Given the description of an element on the screen output the (x, y) to click on. 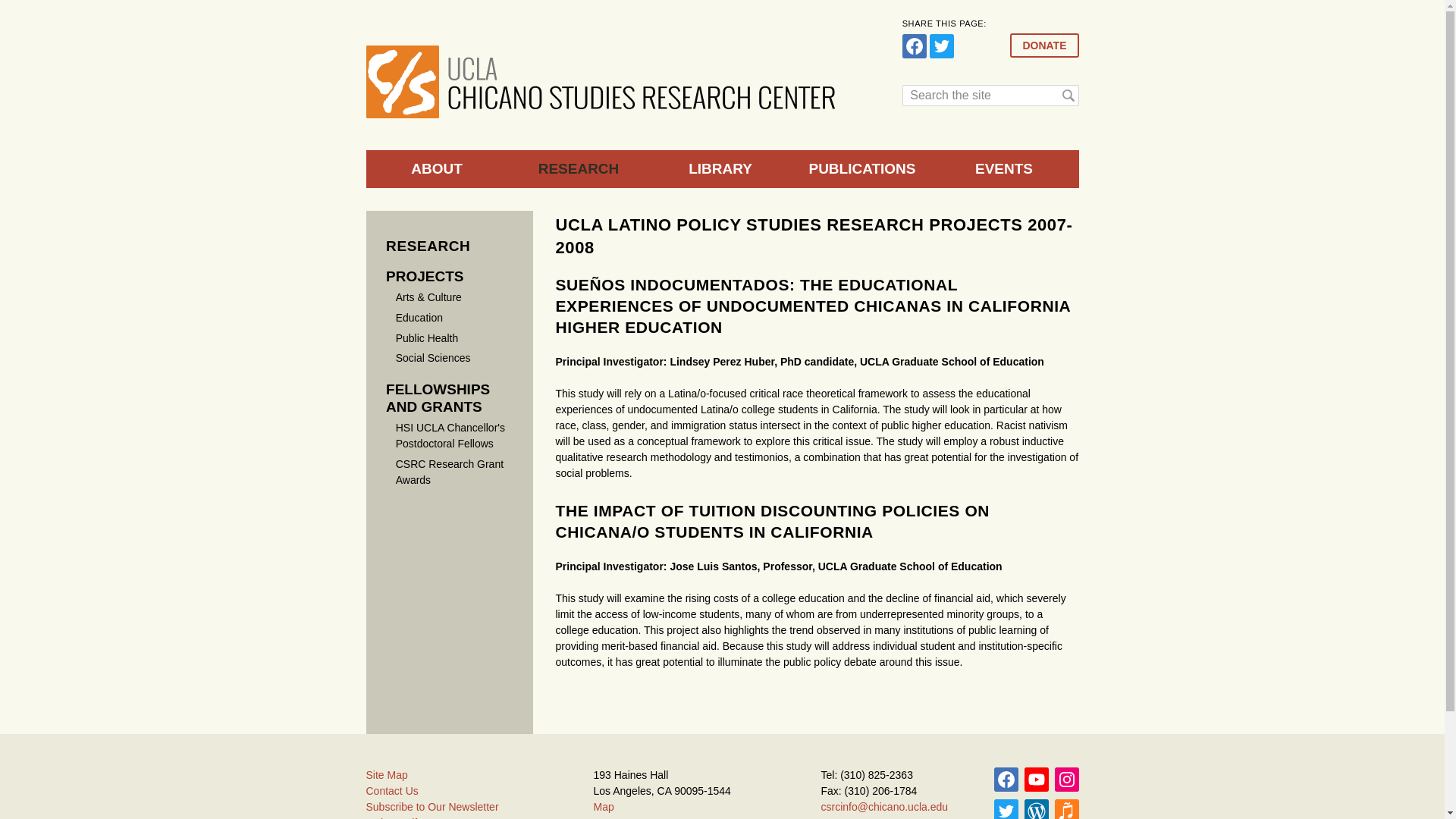
EVENTS (1003, 168)
RESEARCH (427, 245)
Public Health (427, 337)
Tweet this (941, 46)
Share on Facebook (914, 46)
ABOUT (435, 168)
CSRC Research Grant Awards (449, 471)
Enter the terms you wish to search for. (990, 95)
LIBRARY (719, 168)
Subscribe (1035, 779)
Skip to main content (691, 1)
Home (600, 81)
Follow (1066, 779)
RESEARCH (578, 168)
Read (1035, 809)
